Given the description of an element on the screen output the (x, y) to click on. 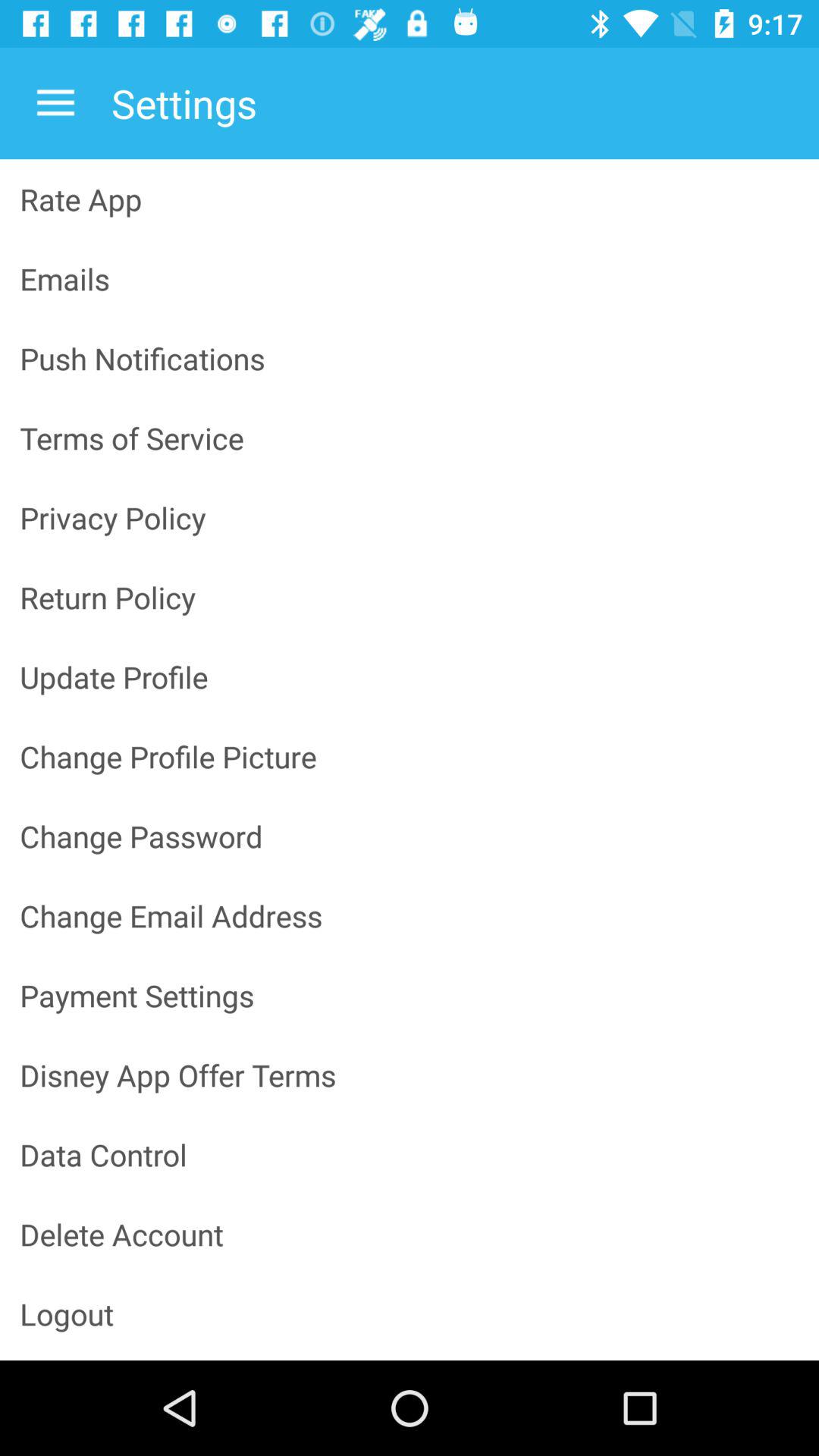
choose the icon below the disney app offer icon (409, 1154)
